Given the description of an element on the screen output the (x, y) to click on. 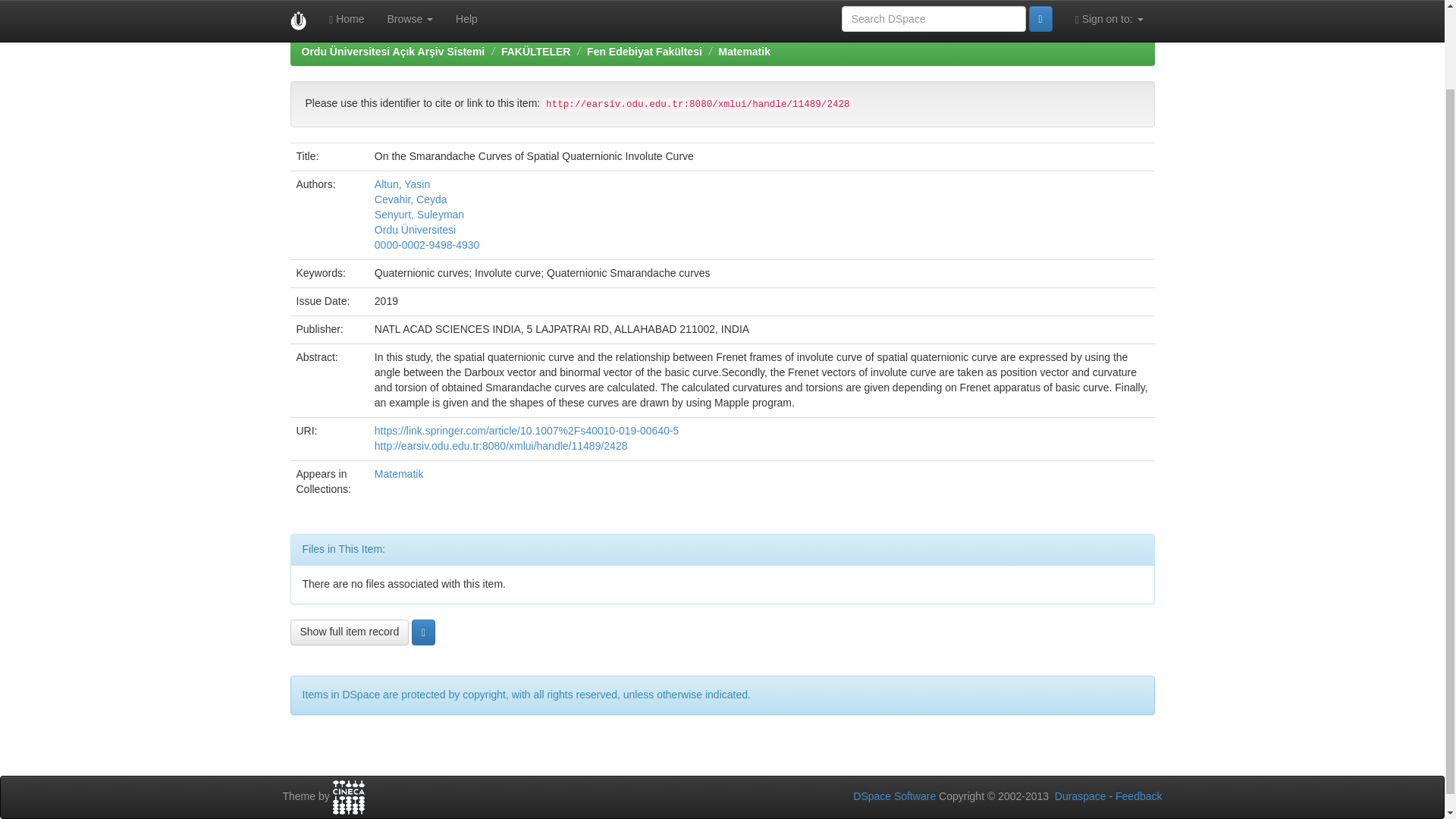
Matematik (743, 51)
Feedback (1138, 796)
Matematik (398, 473)
DSpace Software (894, 796)
Senyurt, Suleyman (419, 214)
Duraspace (1080, 796)
Altun, Yasin (401, 184)
0000-0002-9498-4930 (427, 244)
Show full item record (349, 632)
Cevahir, Ceyda (410, 199)
